Given the description of an element on the screen output the (x, y) to click on. 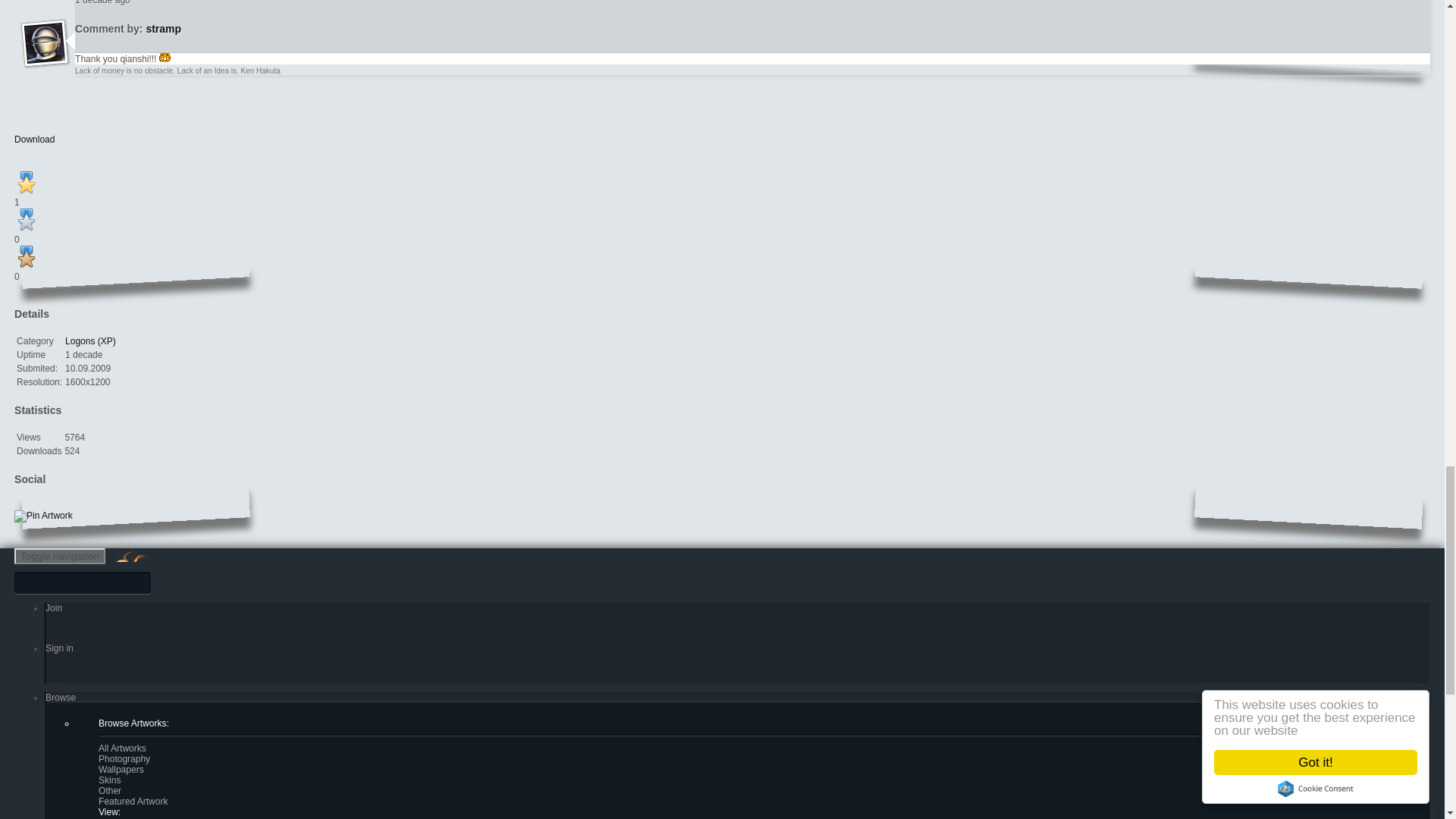
Join (53, 607)
Other (109, 790)
Skins (109, 779)
Download (34, 138)
Toggle navigation (59, 555)
Profile of member stramp (162, 28)
Browse (60, 697)
Sign in (59, 647)
SkinBase (132, 556)
All Artworks (123, 747)
Profile of member stramp (46, 60)
Featured Artwork (133, 801)
stramp (162, 28)
Photography (124, 758)
Wallpapers (121, 769)
